Given the description of an element on the screen output the (x, y) to click on. 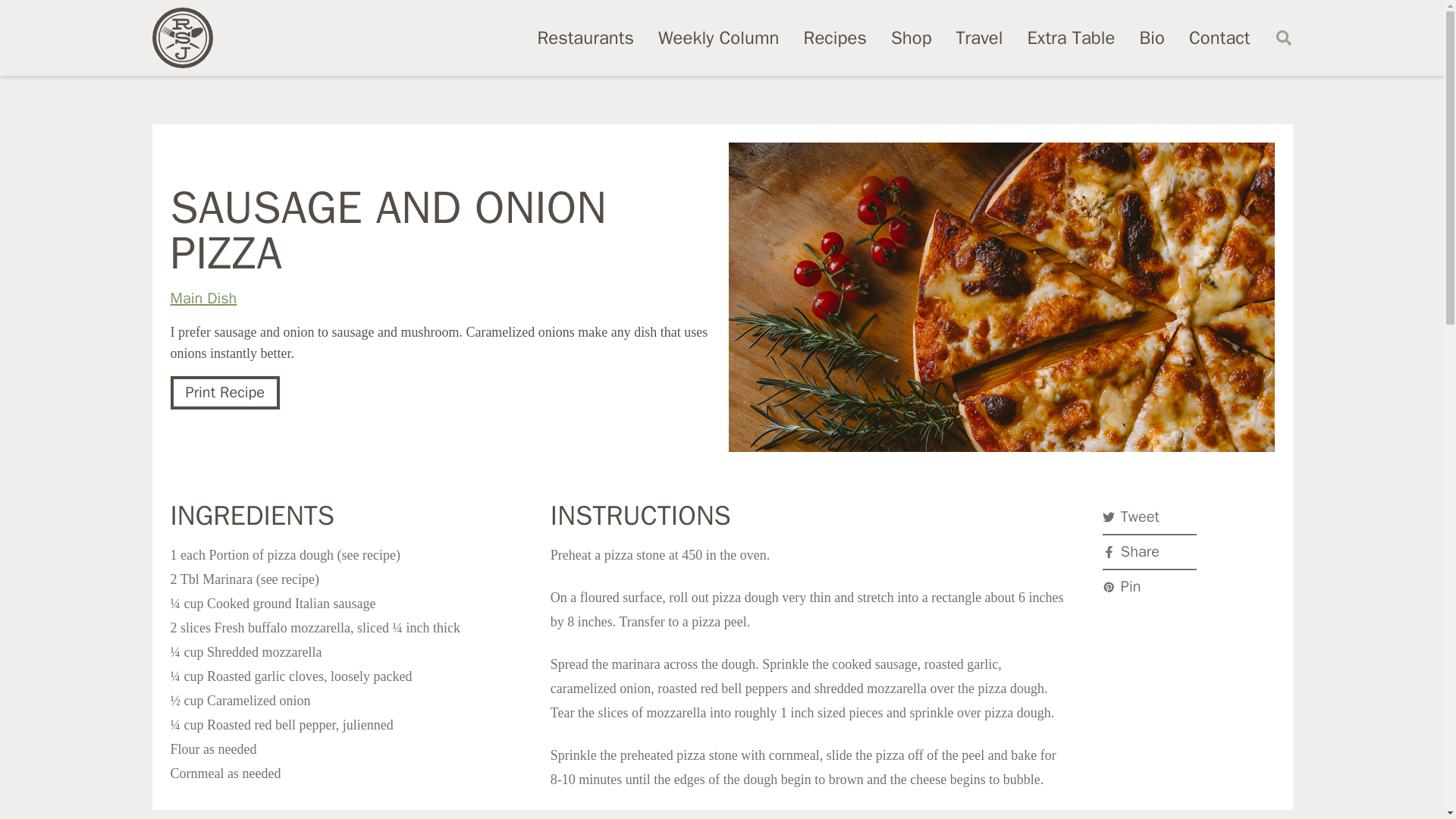
Tweet (1149, 516)
Bio (1151, 37)
Travel (979, 37)
Recipes (834, 37)
Extra Table (1070, 37)
Shop (911, 37)
Weekly Column (718, 37)
Share (1149, 551)
Pin (1149, 586)
Contact (1219, 37)
Print Recipe (224, 392)
Restaurants (585, 37)
Main Dish (202, 298)
